Given the description of an element on the screen output the (x, y) to click on. 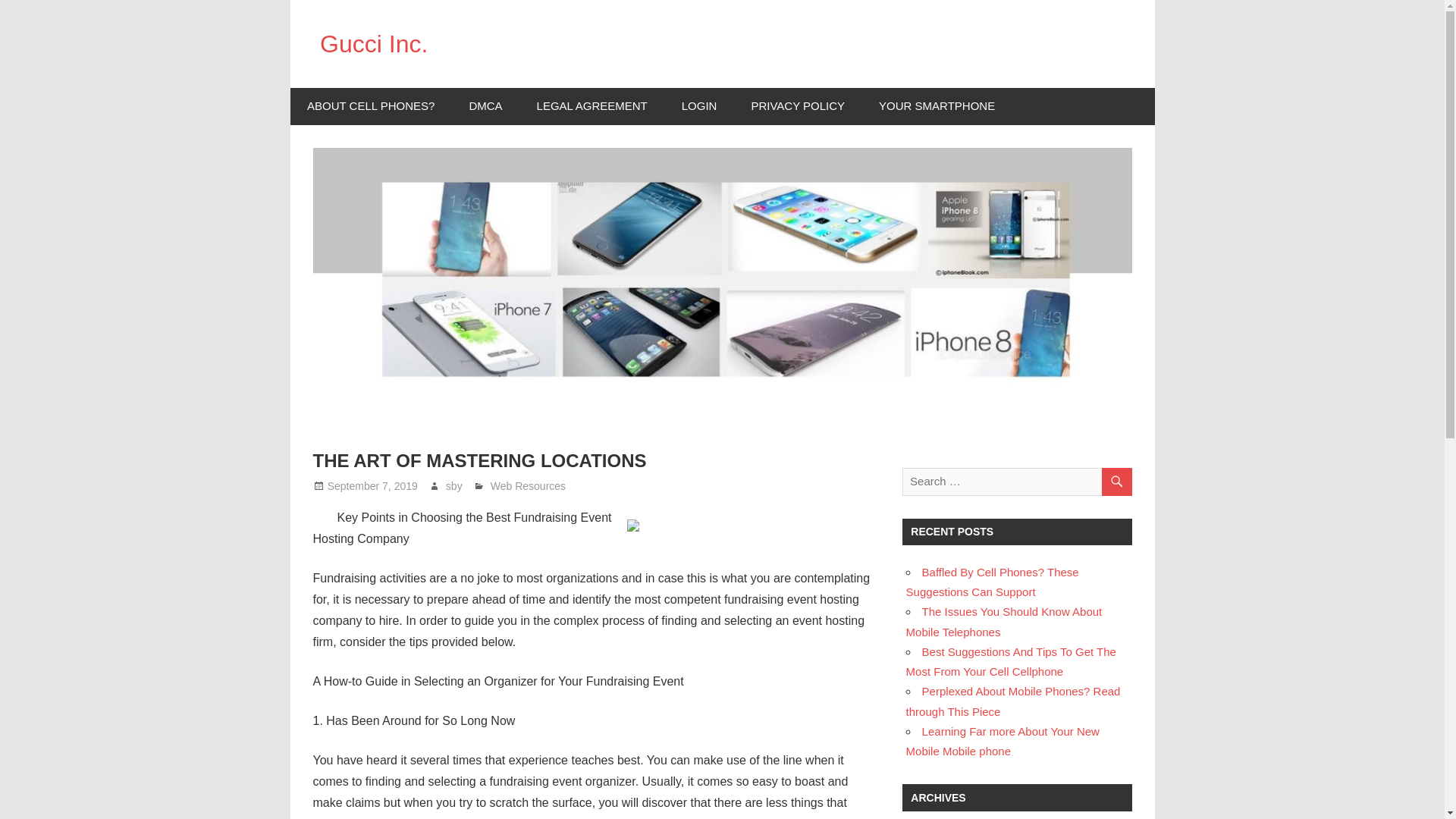
September 7, 2019 (372, 485)
Baffled By Cell Phones? These Suggestions Can Support (991, 581)
LEGAL AGREEMENT (591, 106)
DMCA (485, 106)
Web Resources (528, 485)
The Issues You Should Know About Mobile Telephones (1003, 621)
Search for: (1016, 480)
YOUR SMARTPHONE (936, 106)
LOGIN (698, 106)
Perplexed About Mobile Phones? Read through This Piece (1013, 700)
ABOUT CELL PHONES? (370, 106)
Gucci Inc. (374, 43)
Learning Far more About Your New Mobile Mobile phone (1002, 740)
sby (454, 485)
